Given the description of an element on the screen output the (x, y) to click on. 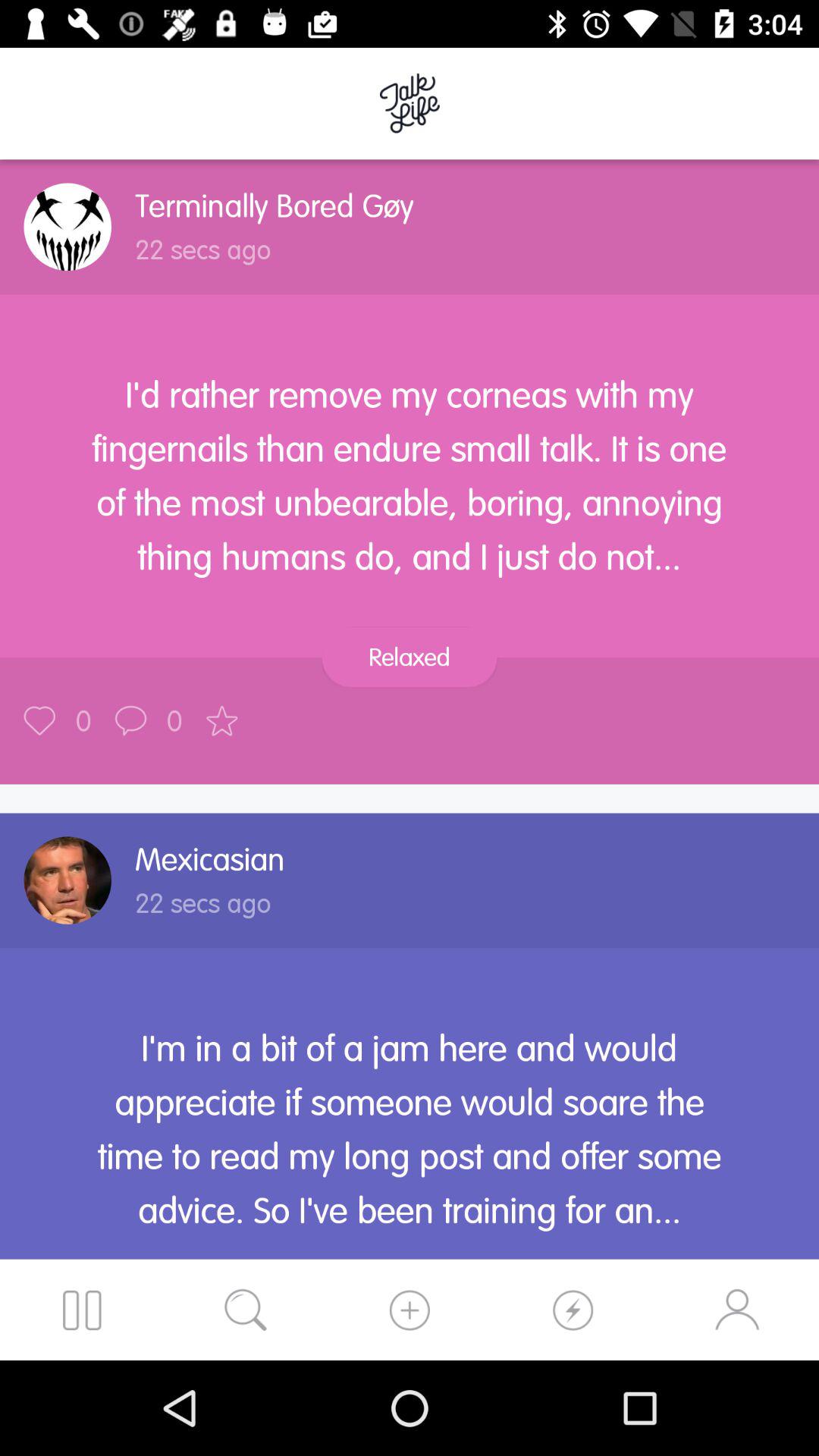
choose the mexicasian icon (209, 859)
